Given the description of an element on the screen output the (x, y) to click on. 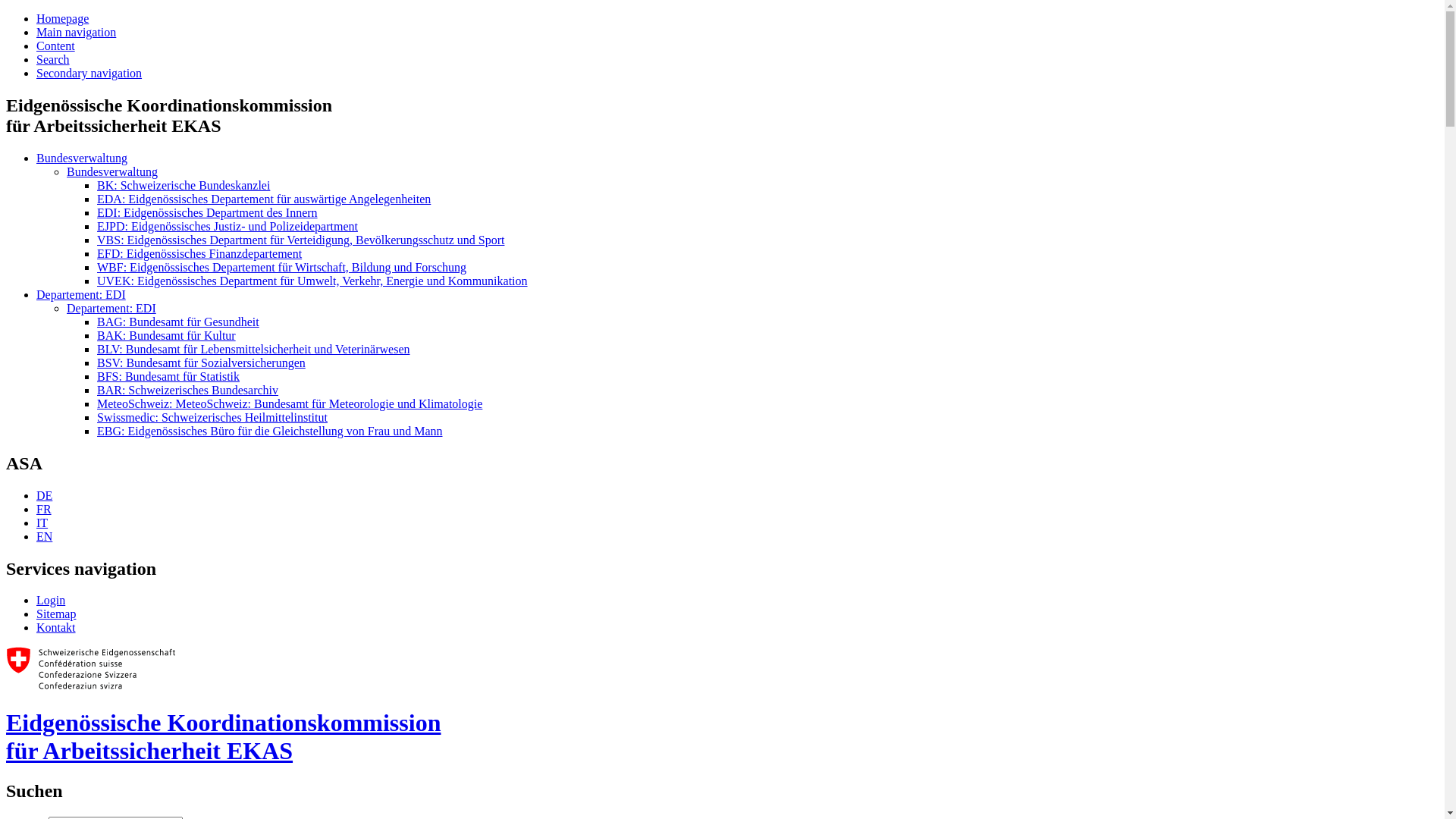
Departement: EDI Element type: text (111, 307)
Main navigation Element type: text (76, 31)
Homepage Element type: text (62, 18)
Departement: EDI Element type: text (80, 294)
Login Element type: text (50, 599)
Bundesverwaltung Element type: text (111, 171)
IT Element type: text (41, 522)
Sitemap Element type: text (55, 613)
EN Element type: text (44, 536)
DE Element type: text (44, 495)
Bundesverwaltung Element type: text (81, 157)
FR Element type: text (43, 508)
Search Element type: text (52, 59)
Kontakt Element type: text (55, 627)
BK: Schweizerische Bundeskanzlei Element type: text (183, 184)
BAR: Schweizerisches Bundesarchiv Element type: text (187, 389)
Swissmedic: Schweizerisches Heilmittelinstitut Element type: text (212, 417)
Secondary navigation Element type: text (88, 72)
Content Element type: text (55, 45)
